Given the description of an element on the screen output the (x, y) to click on. 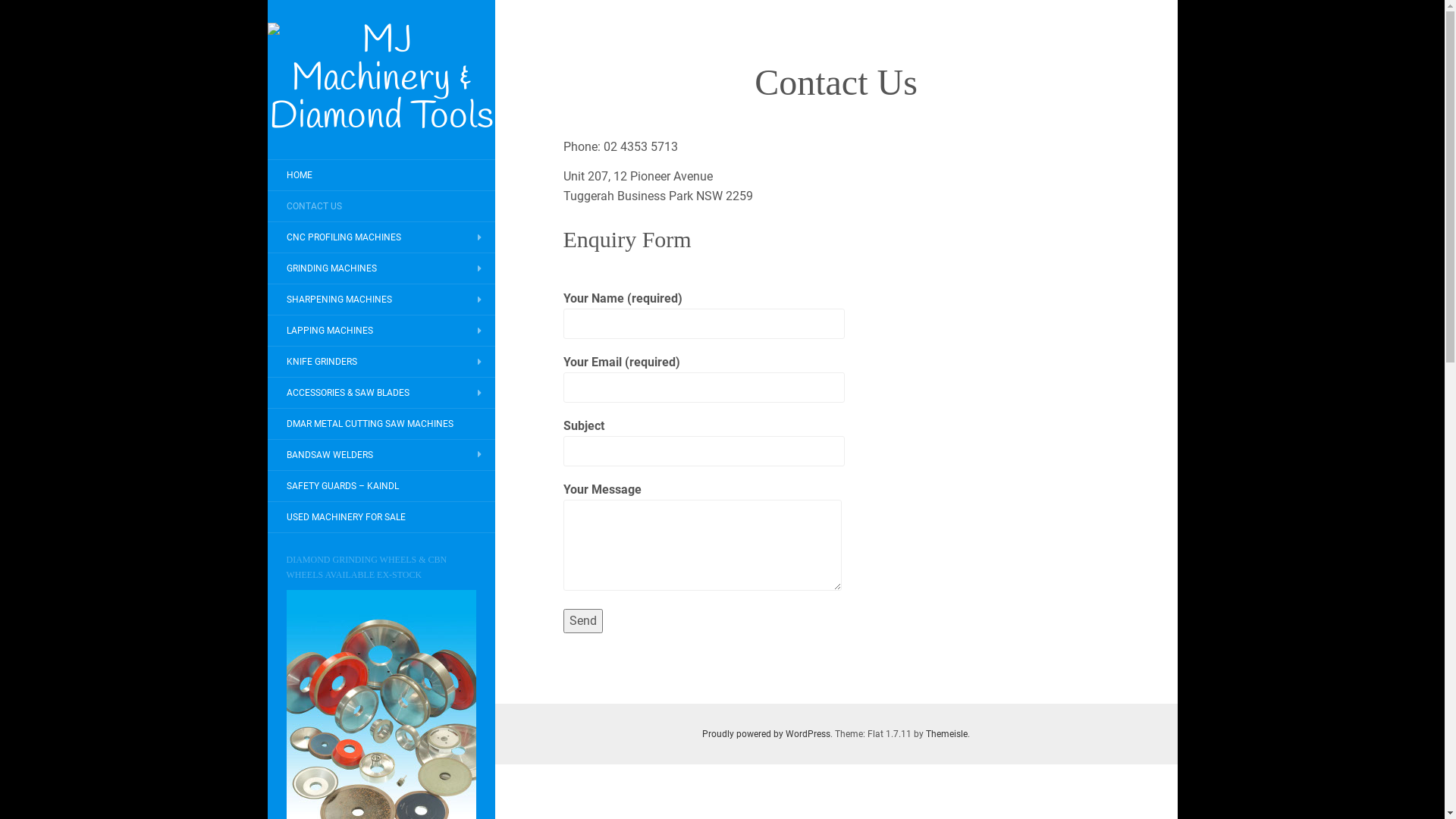
Send Element type: text (582, 620)
CNC PROFILING MACHINES Element type: text (342, 237)
BANDSAW WELDERS Element type: text (328, 454)
GRINDING MACHINES Element type: text (330, 268)
Themeisle Element type: text (946, 733)
SHARPENING MACHINES Element type: text (338, 299)
USED MACHINERY FOR SALE Element type: text (344, 517)
ACCESSORIES & SAW BLADES Element type: text (346, 392)
CONTACT US Element type: text (313, 206)
DMAR METAL CUTTING SAW MACHINES Element type: text (368, 423)
KNIFE GRINDERS Element type: text (320, 361)
LAPPING MACHINES Element type: text (328, 330)
MJ Machinery & Diamond Tools Element type: hover (380, 79)
HOME Element type: text (298, 175)
Proudly powered by WordPress Element type: text (766, 733)
